Given the description of an element on the screen output the (x, y) to click on. 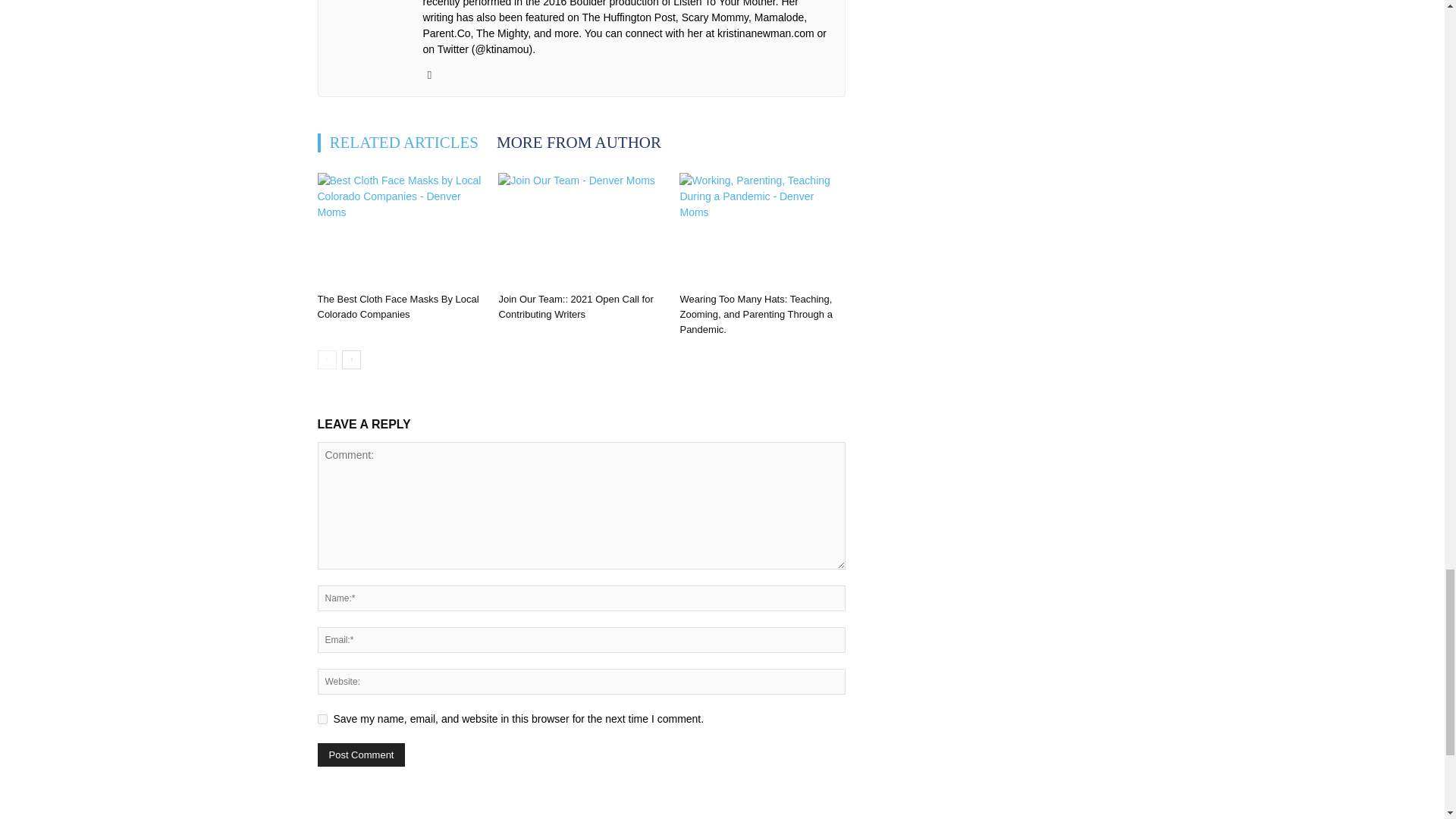
yes (321, 718)
Post Comment (360, 754)
